Given the description of an element on the screen output the (x, y) to click on. 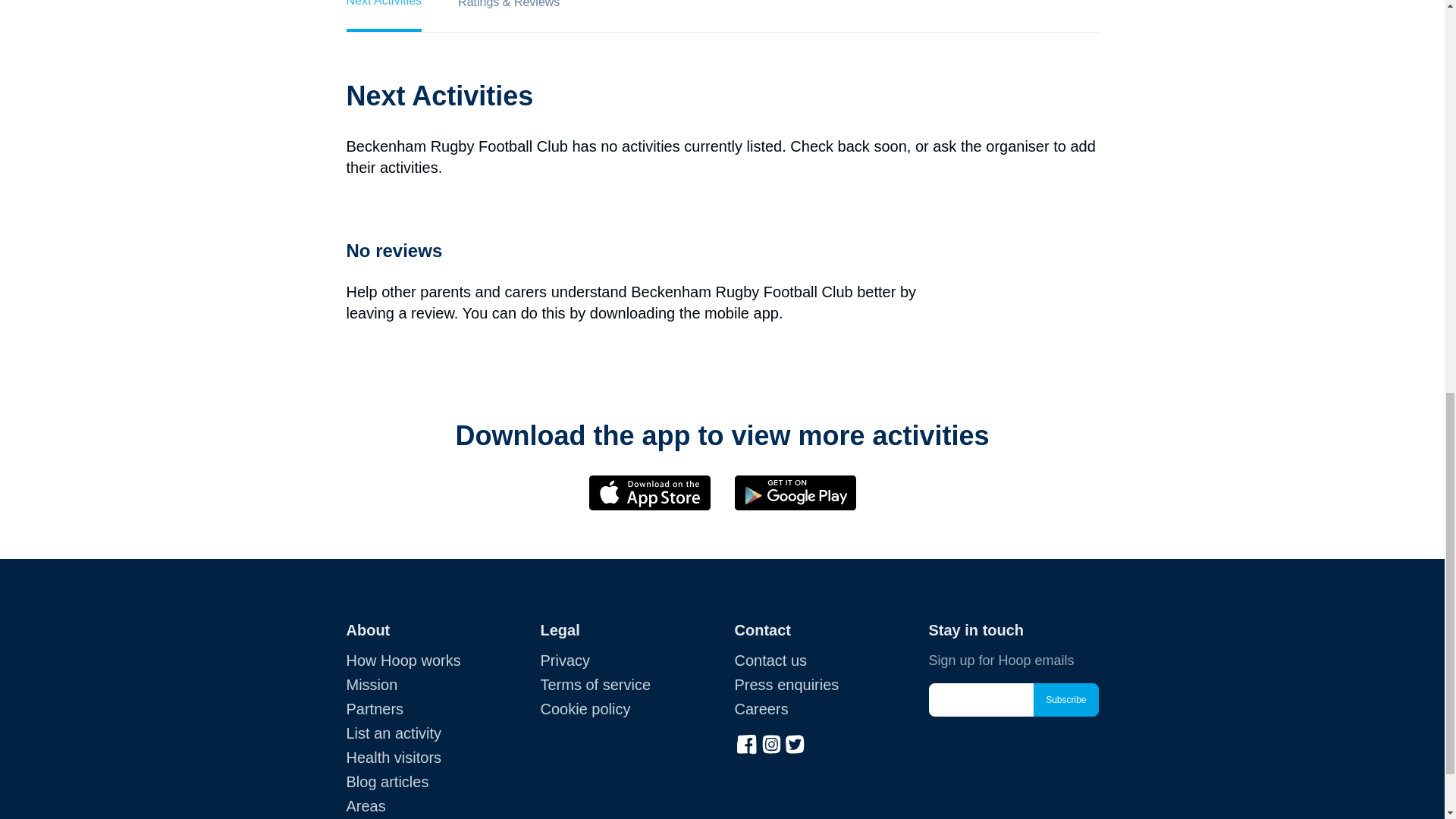
Careers (760, 709)
Areas (365, 805)
How Hoop works (403, 660)
Blog articles (387, 781)
Partners (374, 709)
Cookie policy (585, 709)
Instagram (770, 742)
Facebook (745, 742)
Press enquiries (785, 684)
Contact us (769, 660)
Mission (371, 684)
Health visitors (393, 757)
List an activity (393, 733)
Subscribe (1065, 699)
Terms of service (595, 684)
